Given the description of an element on the screen output the (x, y) to click on. 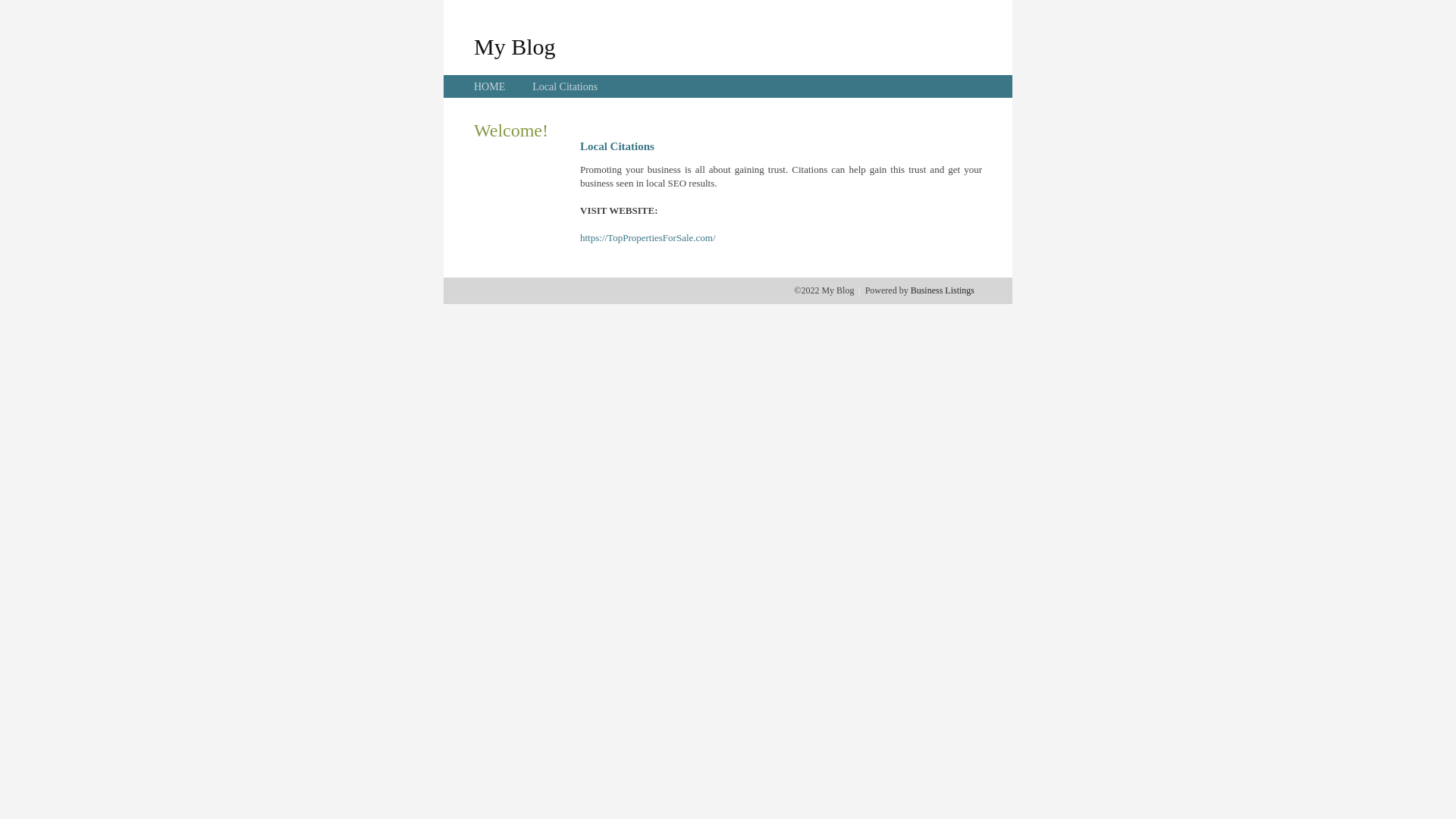
HOME Element type: text (489, 86)
Local Citations Element type: text (564, 86)
My Blog Element type: text (514, 46)
https://TopPropertiesForSale.com/ Element type: text (647, 237)
Business Listings Element type: text (942, 290)
